Given the description of an element on the screen output the (x, y) to click on. 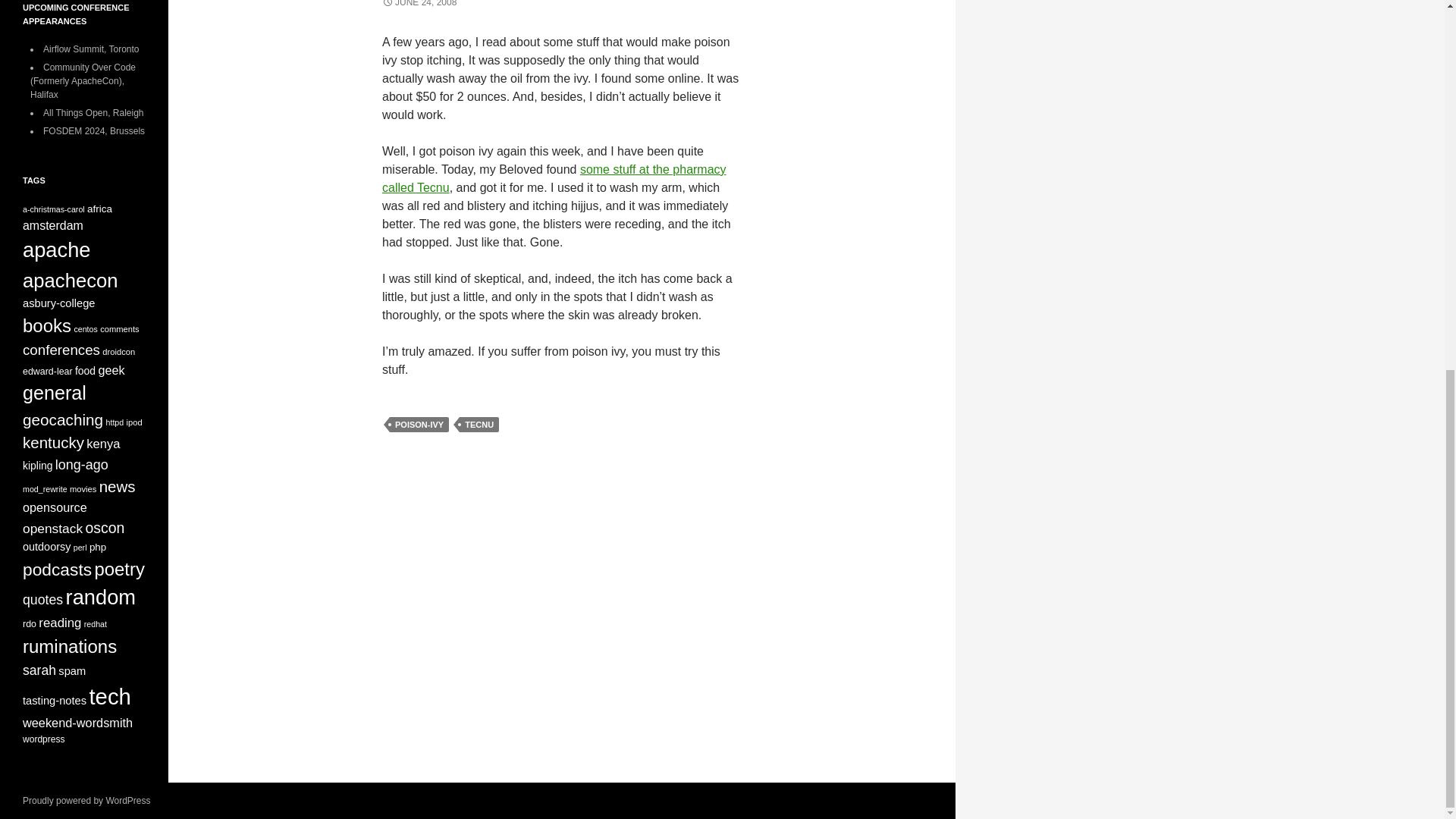
TECNU (479, 424)
JUNE 24, 2008 (419, 3)
POISON-IVY (419, 424)
asbury-college (59, 303)
centos (85, 328)
conferences (61, 349)
some stuff at the pharmacy called Tecnu (553, 178)
apachecon (70, 280)
a-christmas-carol (53, 208)
comments (119, 328)
africa (99, 208)
books (47, 325)
apache (56, 249)
amsterdam (52, 225)
